Given the description of an element on the screen output the (x, y) to click on. 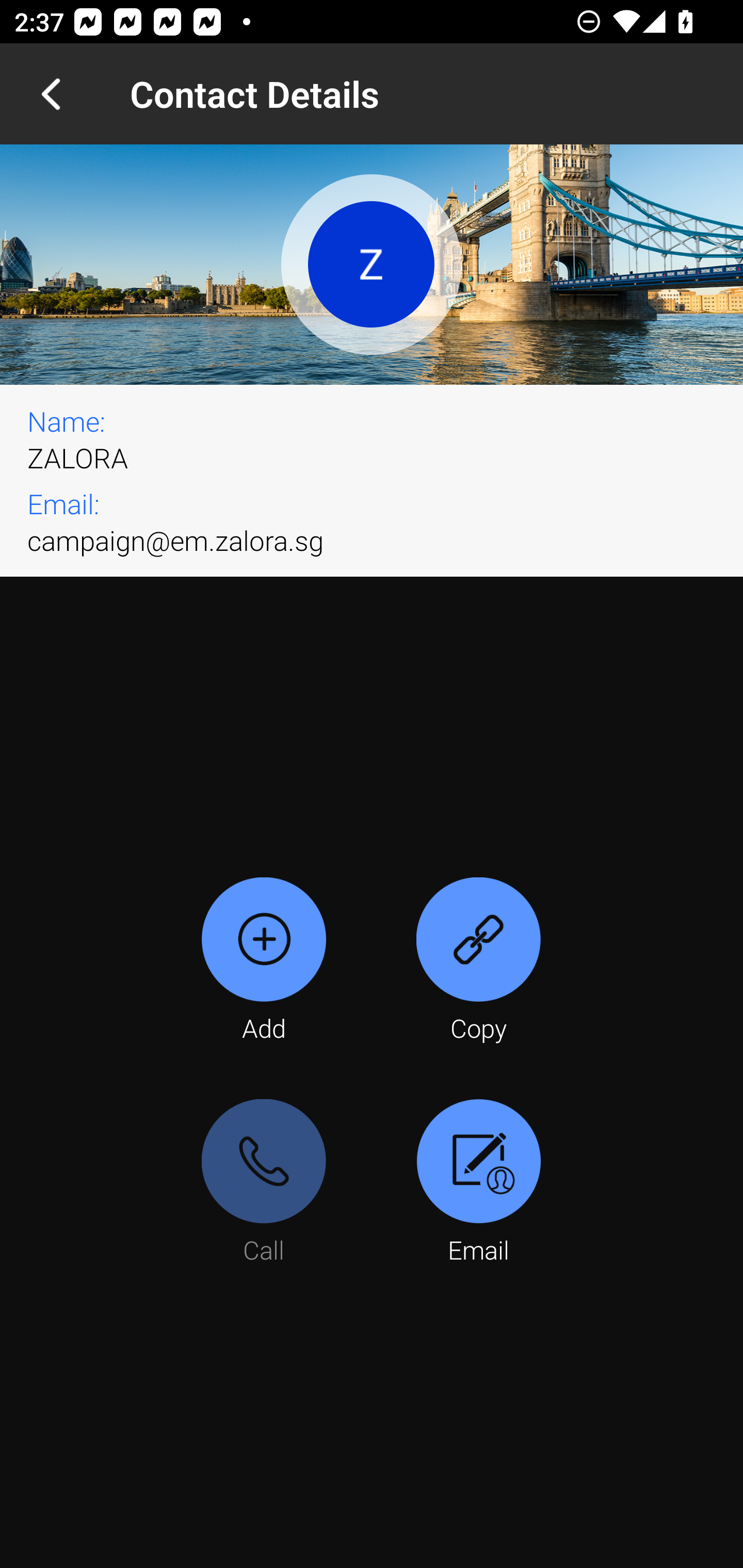
Navigate up (50, 93)
Add (264, 961)
Copy (478, 961)
Call (264, 1182)
Email (478, 1182)
